Given the description of an element on the screen output the (x, y) to click on. 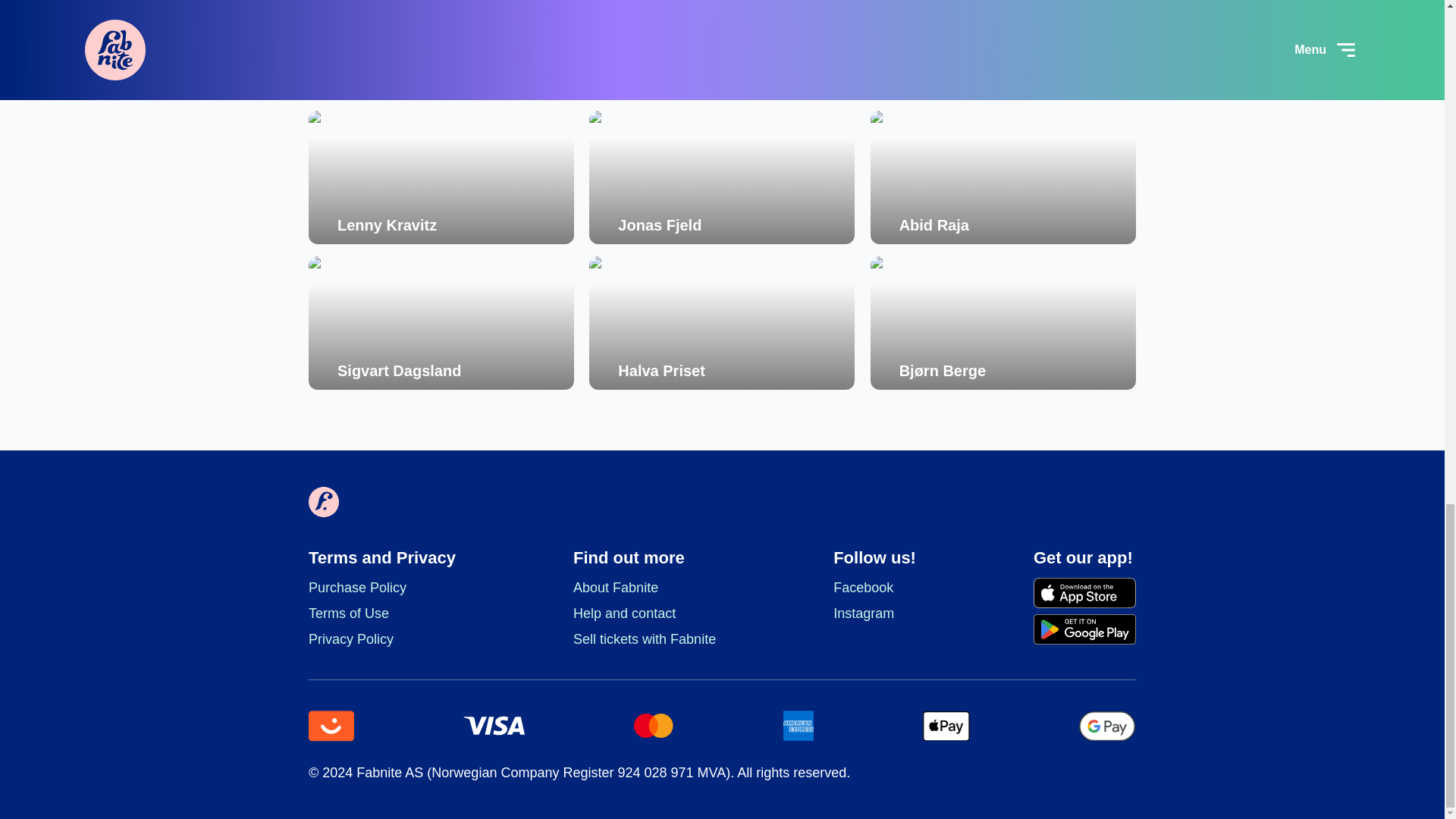
Terms of Use (381, 613)
Instagram (873, 613)
Lenny Kravitz (440, 177)
Sigvart Dagsland (440, 322)
Halva Priset (721, 322)
Privacy Policy (381, 639)
Sell tickets with Fabnite (644, 639)
Jonas Fjeld (721, 177)
Abid Raja (1002, 177)
Help and contact (644, 613)
About Fabnite (644, 587)
Facebook (873, 587)
Purchase Policy (381, 587)
